Given the description of an element on the screen output the (x, y) to click on. 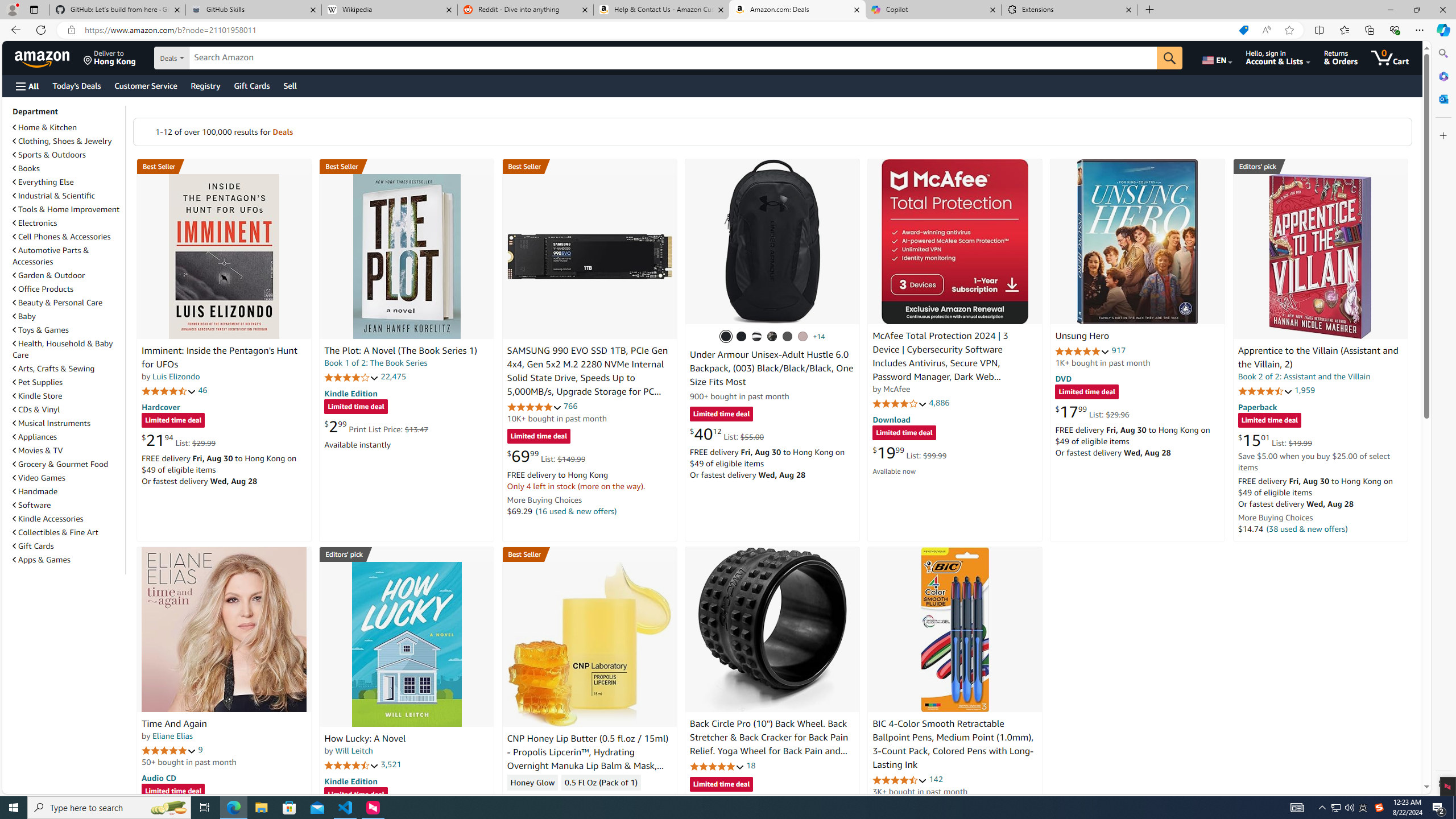
Editors' pick Best Science Fiction & Fantasy (1320, 165)
Books (26, 167)
Electronics (67, 222)
Office Products (67, 288)
Will Leitch (353, 750)
Tools & Home Improvement (66, 208)
Unsung Hero (1082, 336)
Software (31, 504)
Tools & Home Improvement (67, 208)
Hello, sign in Account & Lists (1278, 57)
